Given the description of an element on the screen output the (x, y) to click on. 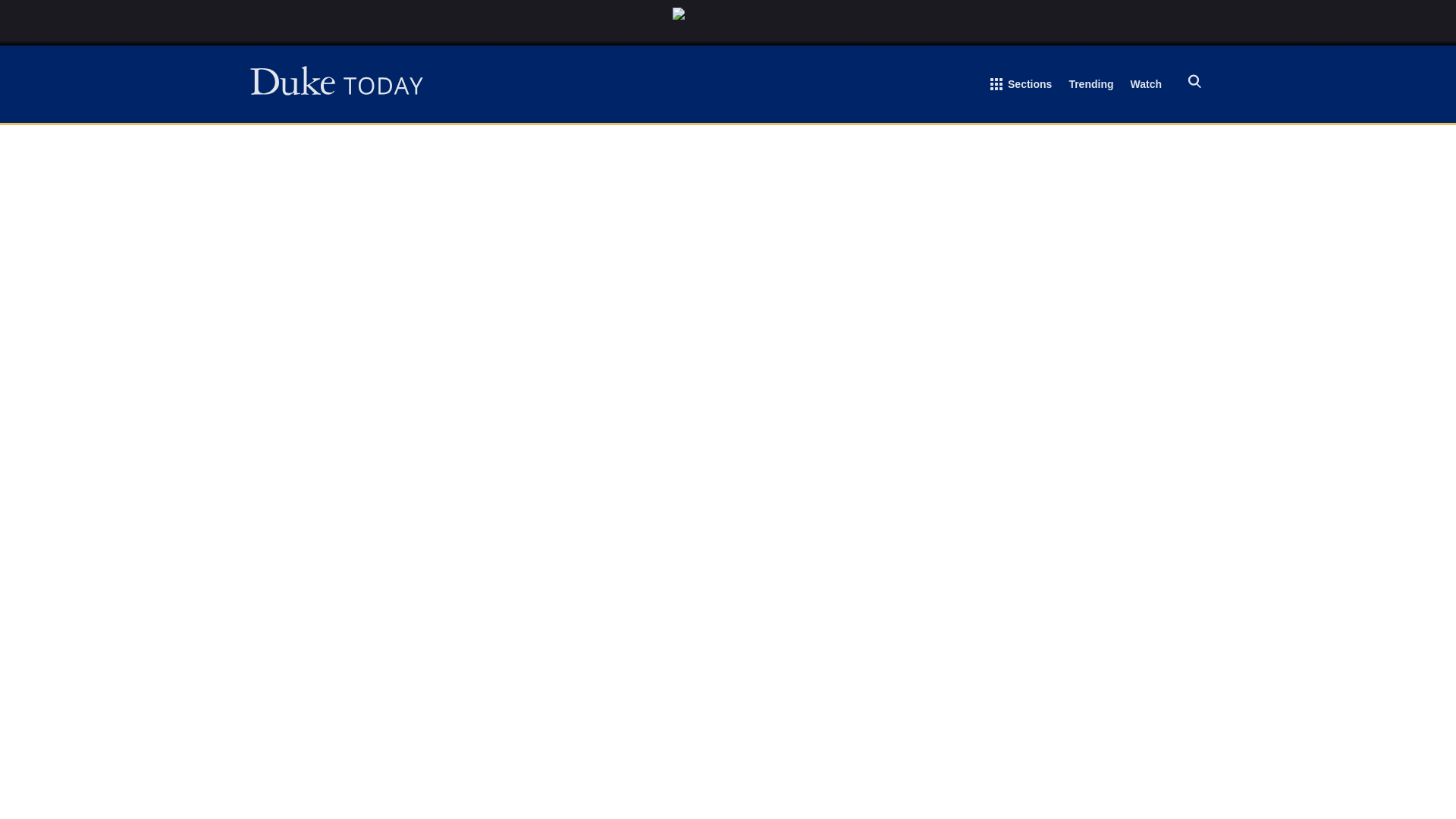
Sections (1020, 87)
Trending (1090, 86)
Search (1192, 83)
Watch (1146, 86)
